Given the description of an element on the screen output the (x, y) to click on. 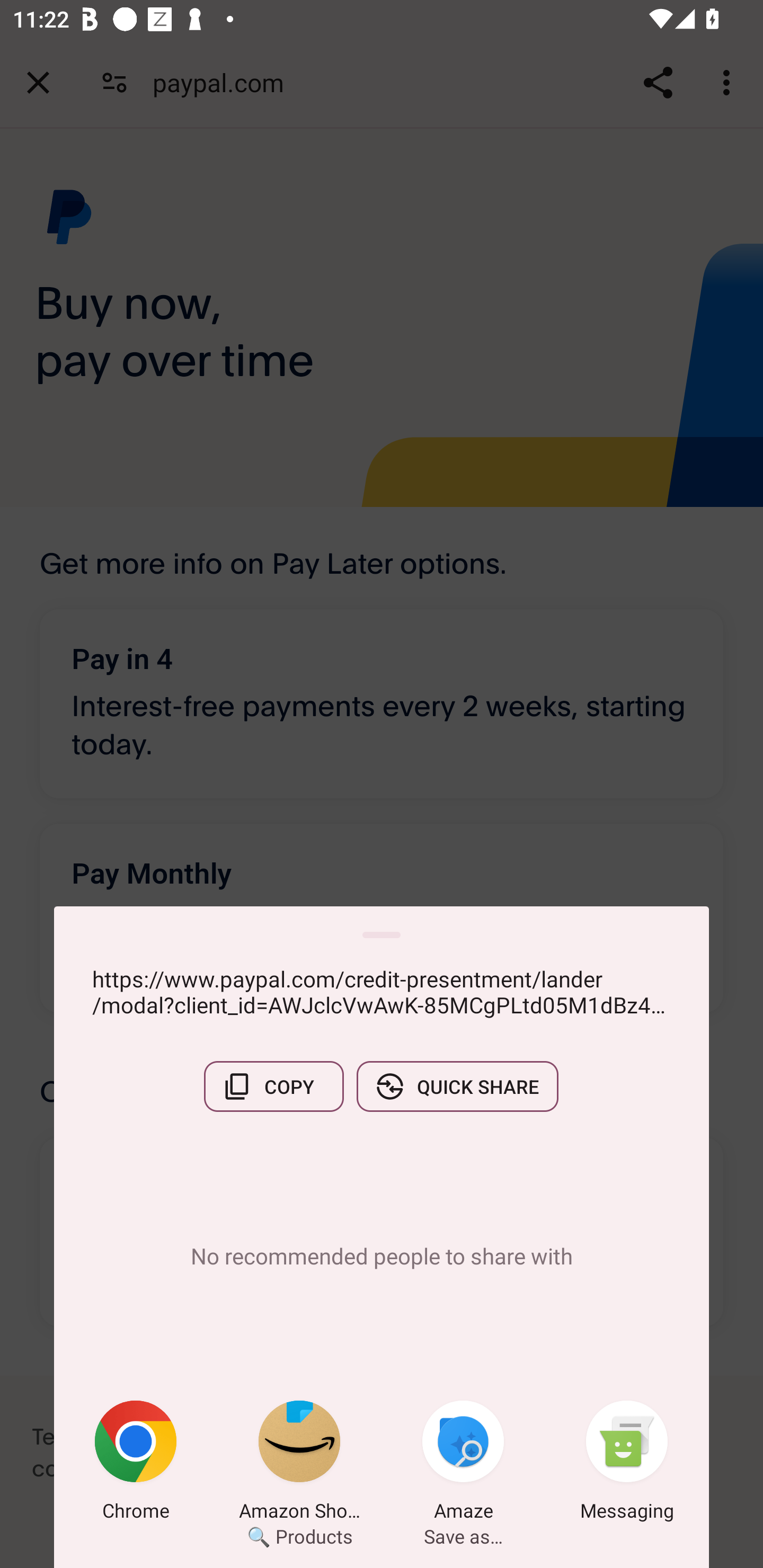
COPY (273, 1086)
QUICK SHARE (457, 1086)
Chrome (135, 1463)
Amazon Shopping 🔍 Products (299, 1463)
Amaze Save as… (463, 1463)
Messaging (626, 1463)
